Given the description of an element on the screen output the (x, y) to click on. 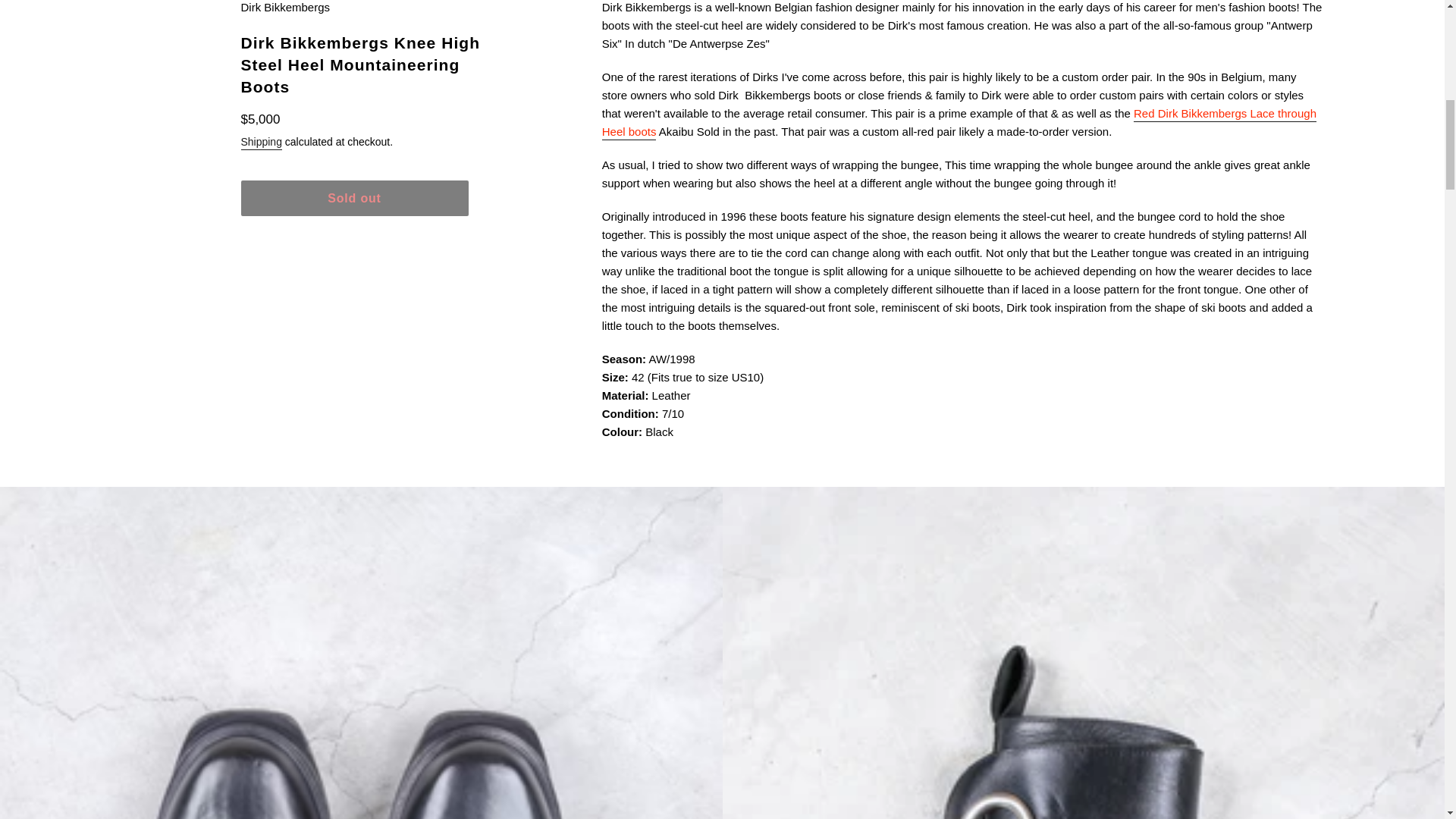
Sold out (354, 198)
Red Dirk Bikkembergs Lace through Heel boots (959, 122)
Shipping (261, 142)
Red Dirk Bikkembergs Boots (959, 122)
